Given the description of an element on the screen output the (x, y) to click on. 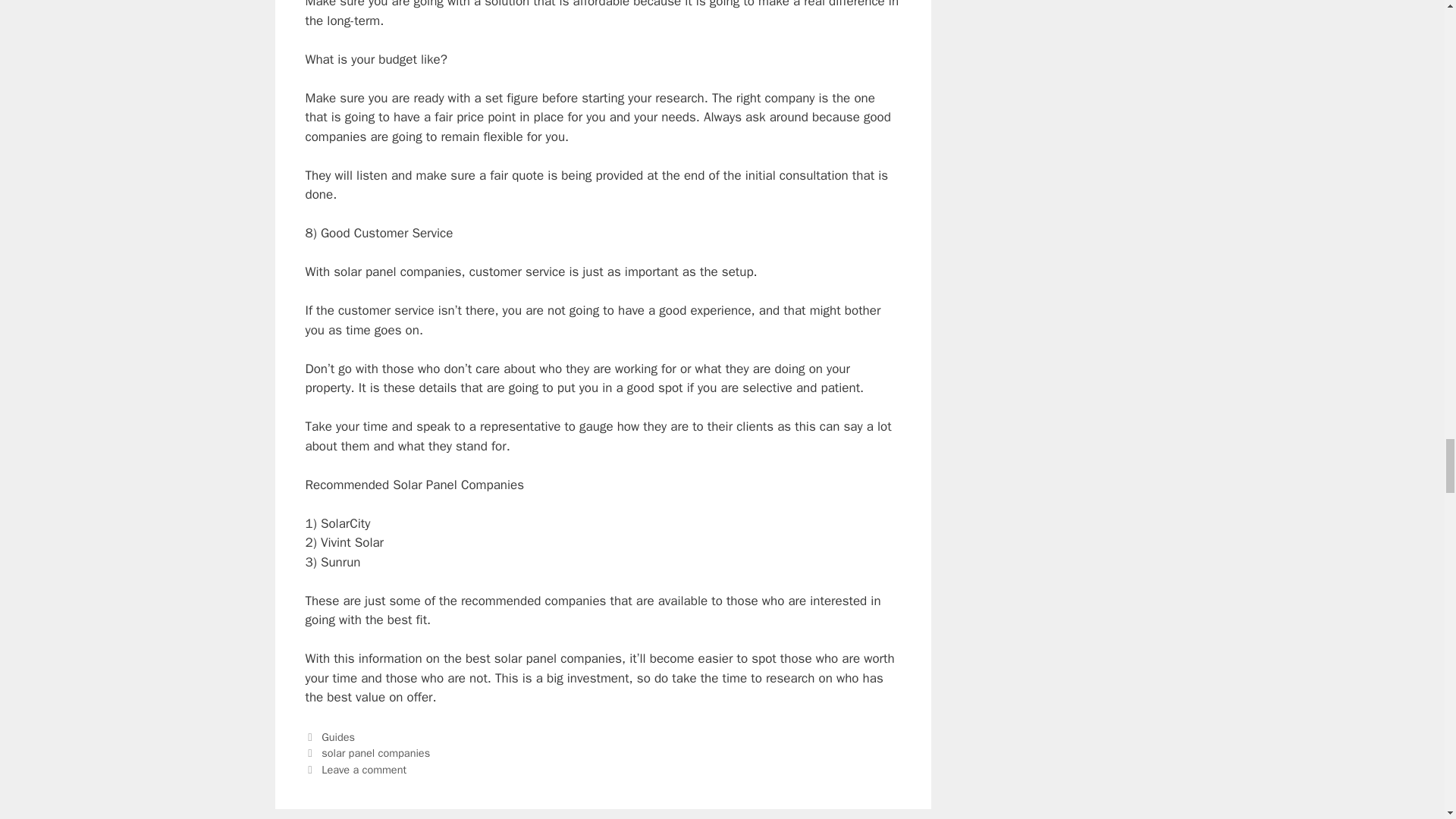
Guides (338, 736)
solar panel companies (375, 753)
Leave a comment (363, 769)
